Given the description of an element on the screen output the (x, y) to click on. 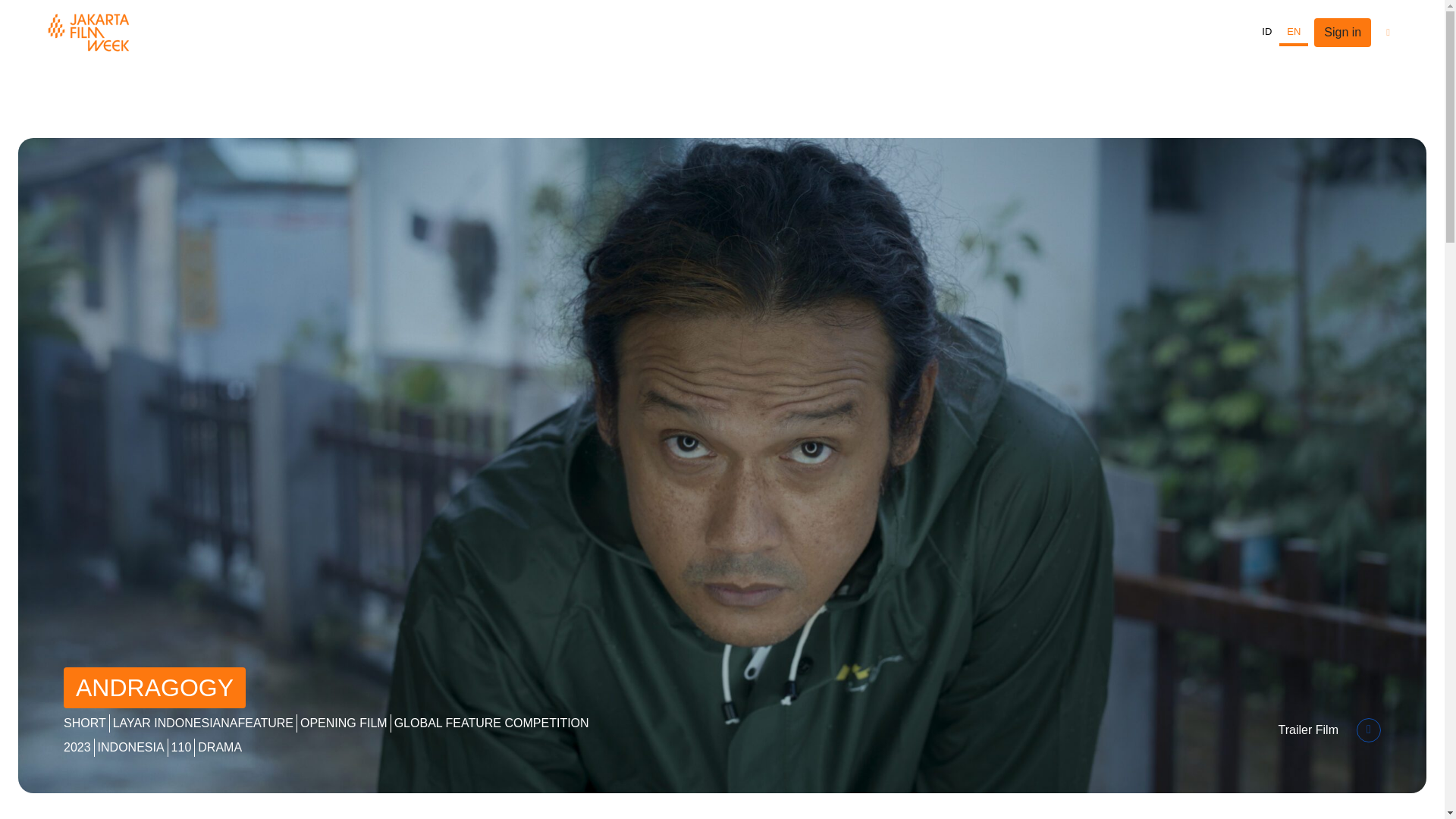
FEATURE (266, 723)
Sign in (1342, 32)
SHORT (85, 723)
ID (1266, 31)
LAYAR INDONESIANA (175, 723)
OPENING FILM (343, 723)
GLOBAL FEATURE COMPETITION (491, 723)
